Given the description of an element on the screen output the (x, y) to click on. 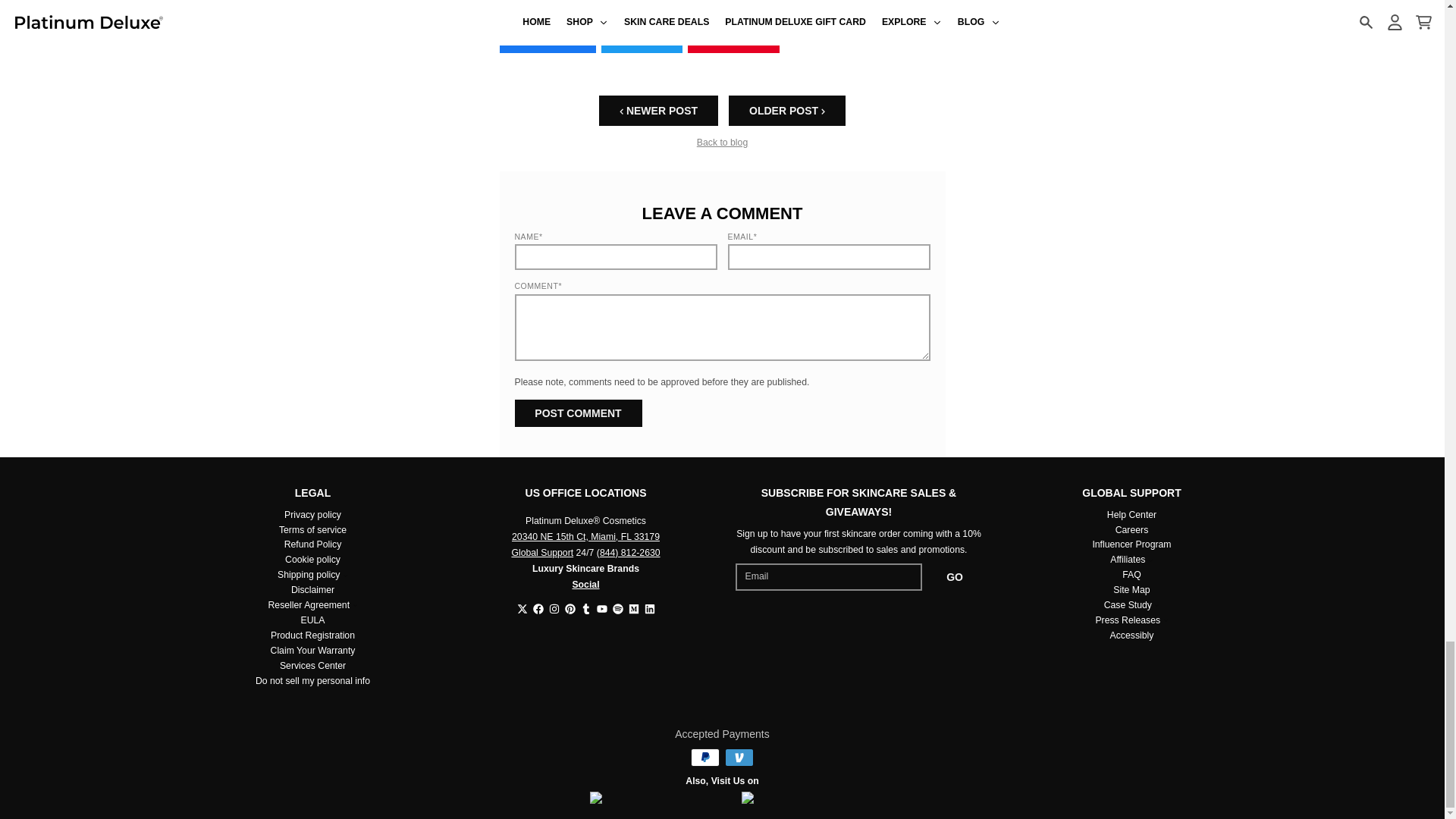
Instagram - Platinum Deluxe Cosmetics (553, 608)
Medium - Platinum Deluxe Cosmetics (633, 608)
Twitter - Platinum Deluxe Cosmetics (521, 608)
LinkedIn - Platinum Deluxe Cosmetics (650, 608)
Post comment (577, 412)
Pinterest - Platinum Deluxe Cosmetics (569, 608)
Facebook - Platinum Deluxe Cosmetics (537, 608)
Tumblr - Platinum Deluxe Cosmetics (585, 608)
Spotify - Platinum Deluxe Cosmetics (617, 608)
YouTube - Platinum Deluxe Cosmetics (601, 608)
